Given the description of an element on the screen output the (x, y) to click on. 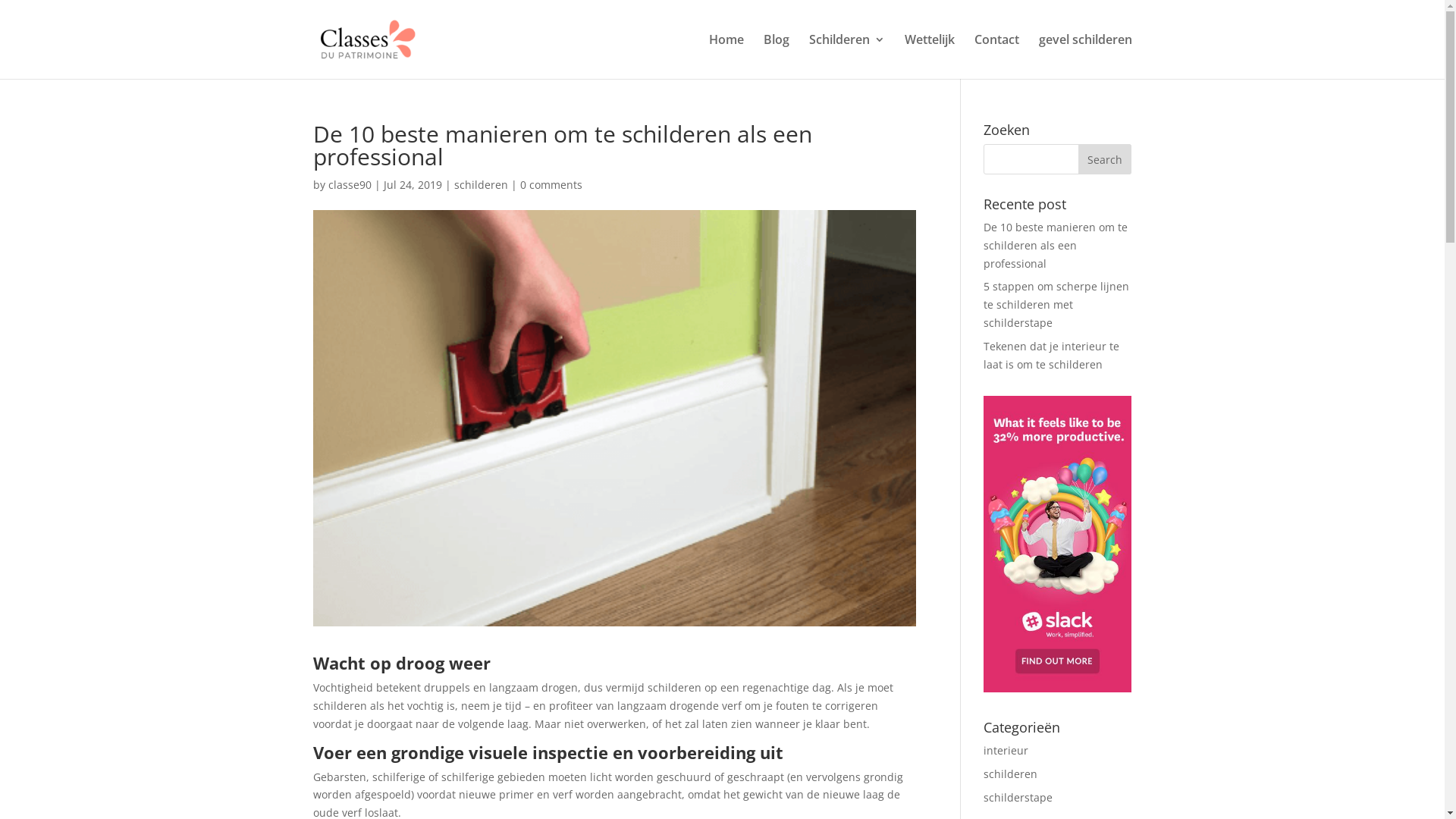
schilderen Element type: text (480, 184)
Search Element type: text (1104, 159)
De 10 beste manieren om te schilderen als een professional Element type: text (1055, 244)
5 stappen om scherpe lijnen te schilderen met schilderstape Element type: text (1056, 304)
schilderen Element type: text (1010, 773)
schilderstape Element type: text (1017, 797)
Blog Element type: text (775, 56)
Schilderen Element type: text (846, 56)
classe90 Element type: text (348, 184)
Wettelijk Element type: text (928, 56)
gevel schilderen Element type: text (1085, 56)
Tekenen dat je interieur te laat is om te schilderen Element type: text (1051, 354)
Contact Element type: text (995, 56)
Home Element type: text (725, 56)
interieur Element type: text (1005, 750)
0 comments Element type: text (551, 184)
